Given the description of an element on the screen output the (x, y) to click on. 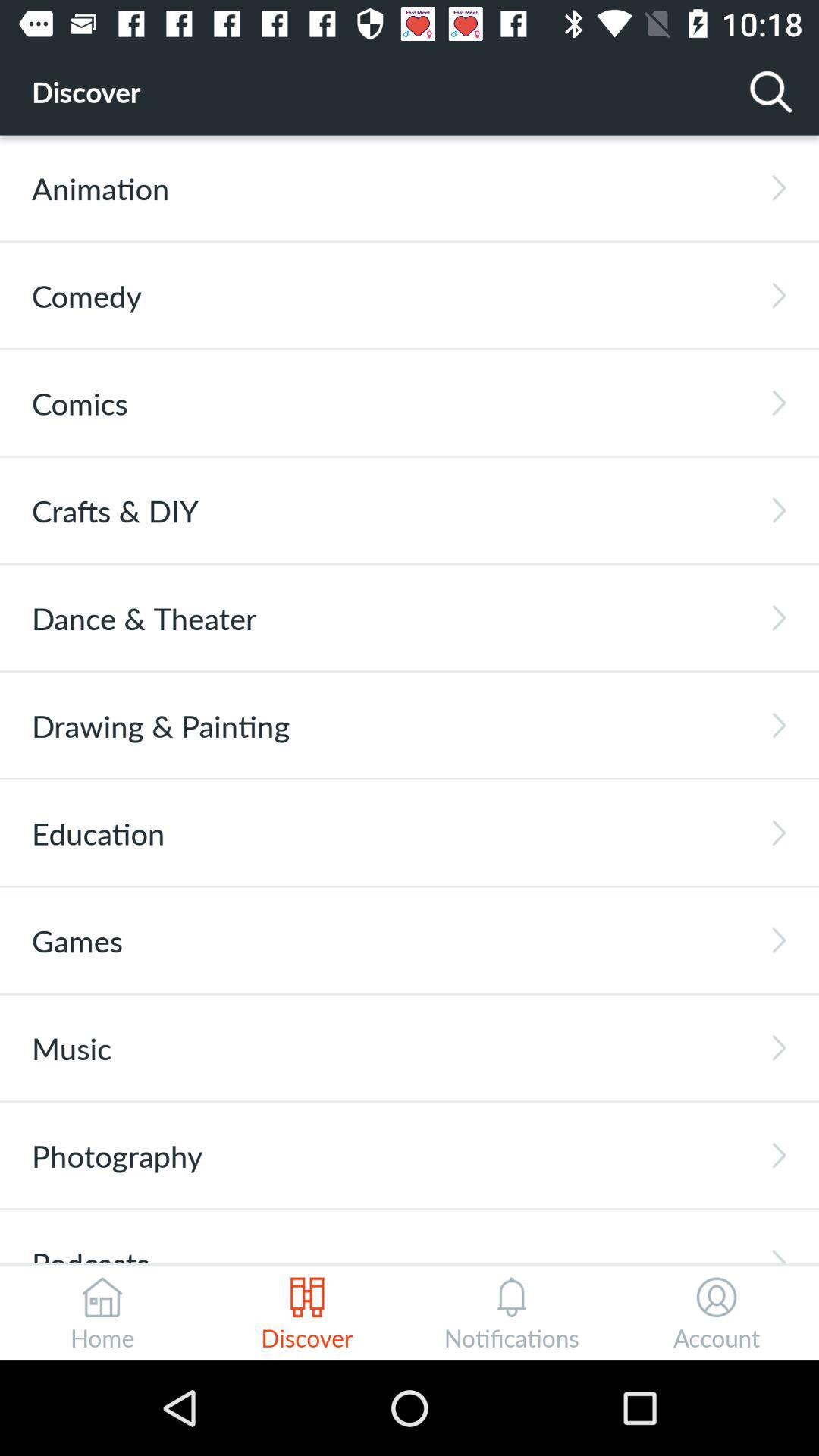
turn on the item next to the discover (771, 91)
